Given the description of an element on the screen output the (x, y) to click on. 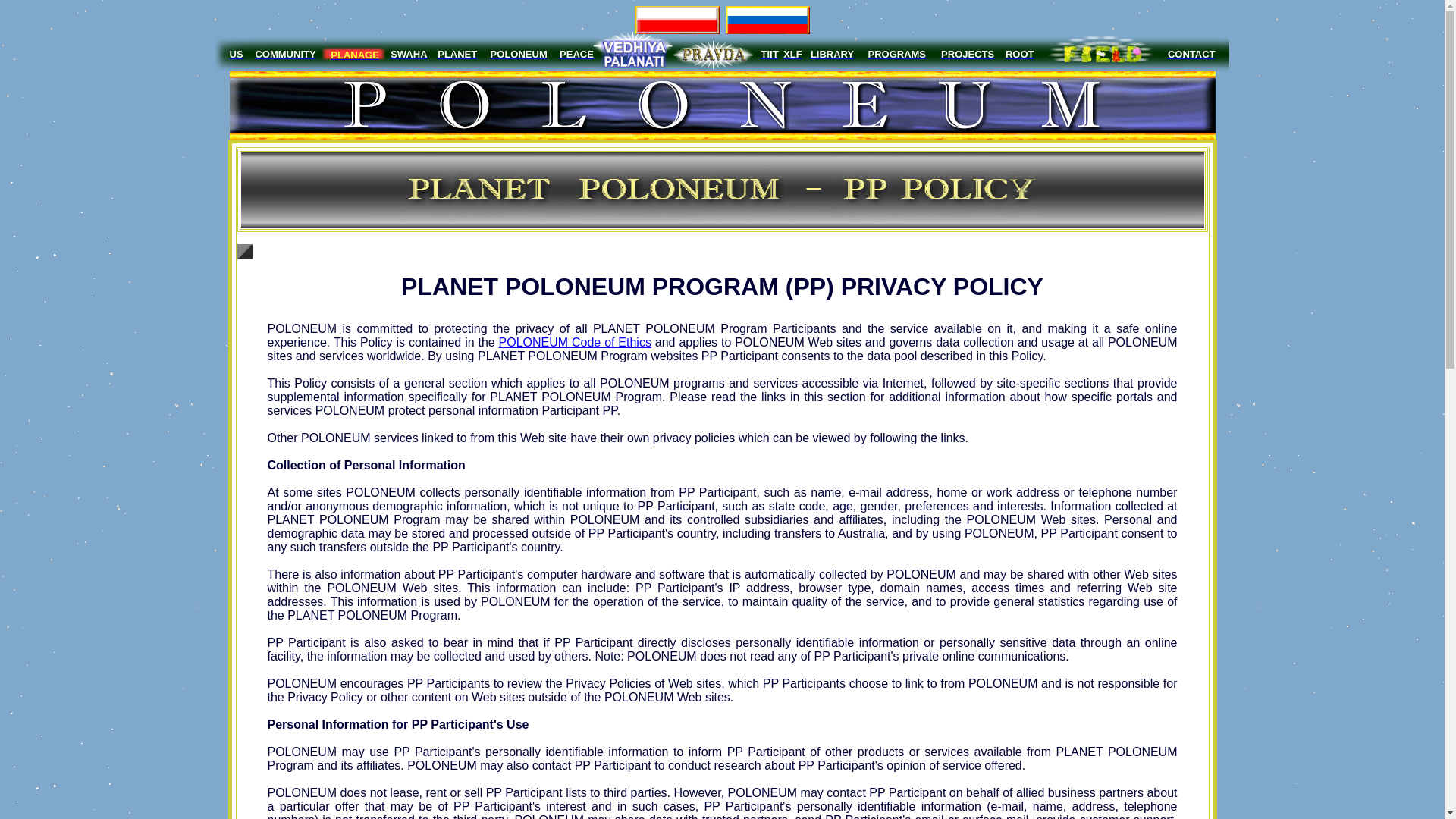
LIBRARY (831, 52)
COMMUNITY (284, 52)
TIIT (769, 52)
PLANET (457, 52)
POLONEUM Code of Ethics (574, 341)
ROOT (1019, 52)
PEACE (576, 52)
US (235, 52)
POLONEUM (518, 52)
SWAHA (408, 52)
PROGRAMS (896, 52)
CONTACT (1191, 52)
PLANAGE (354, 52)
XLF (792, 52)
PROJECTS (967, 52)
